Given the description of an element on the screen output the (x, y) to click on. 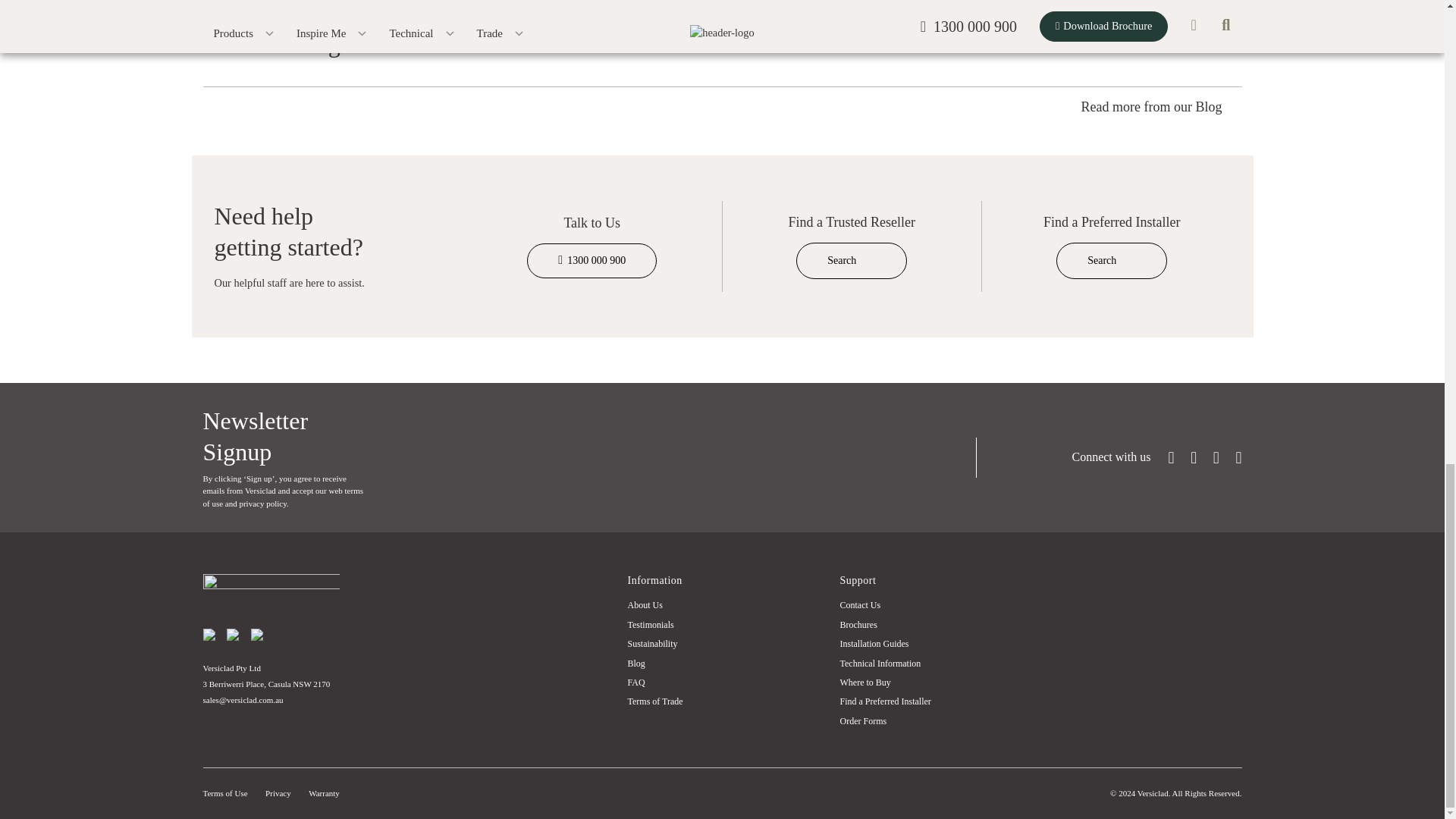
Find a Trusted Reseller (851, 260)
Find a Preferred Installer (1112, 260)
Read more from our Blog (1161, 107)
1300 000 900 (591, 260)
